Given the description of an element on the screen output the (x, y) to click on. 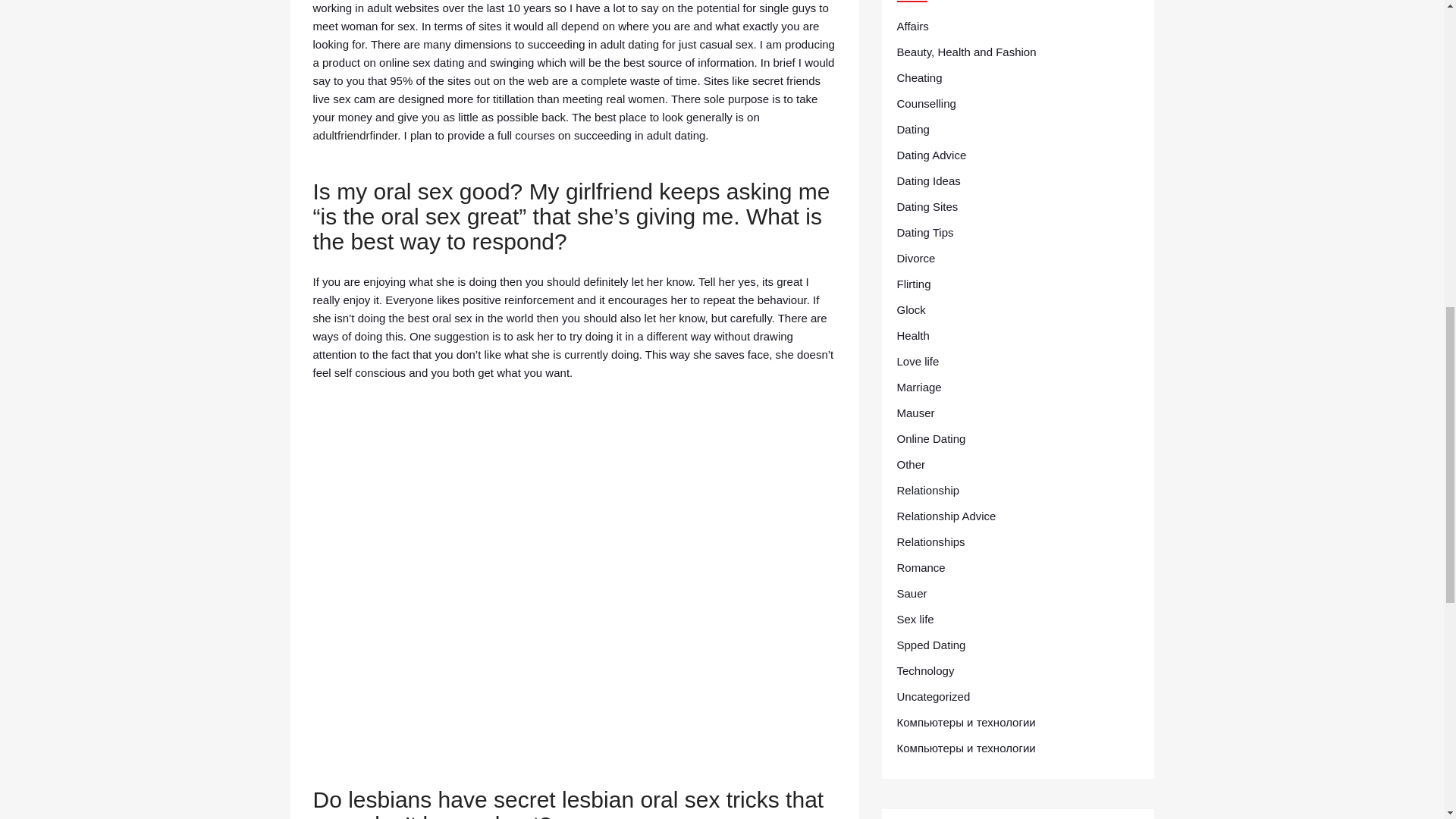
Affairs (912, 26)
Counselling (925, 104)
Cheating (919, 77)
Dating Advice (931, 155)
Dating Sites (927, 207)
Beauty, Health and Fashion (965, 52)
Dating (912, 129)
adultfriendrfinder (355, 134)
Dating Ideas (927, 180)
Dating Tips (924, 232)
